Given the description of an element on the screen output the (x, y) to click on. 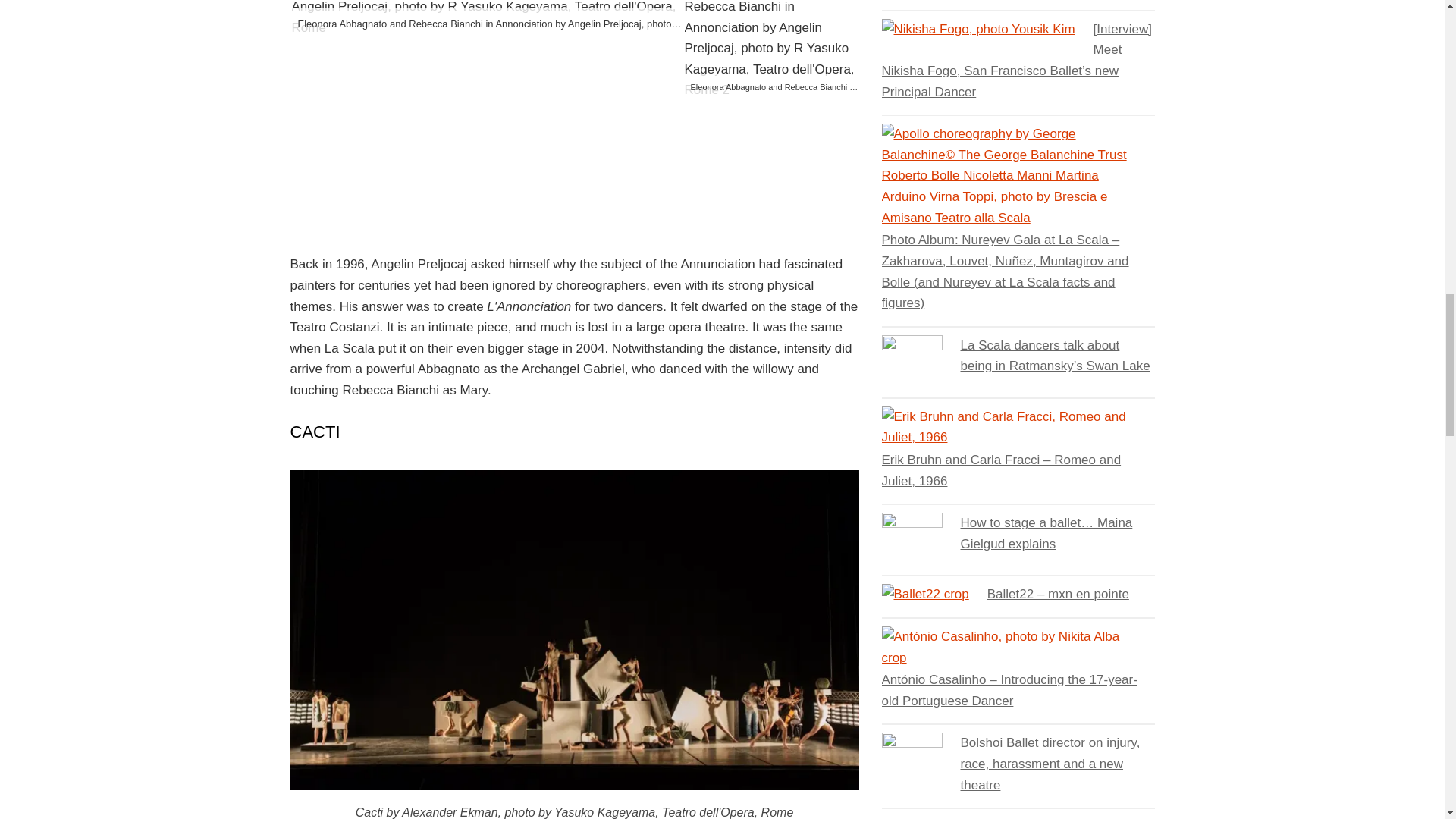
Angelin Preljocaj (604, 23)
Rebecca Bianchi (446, 23)
